Given the description of an element on the screen output the (x, y) to click on. 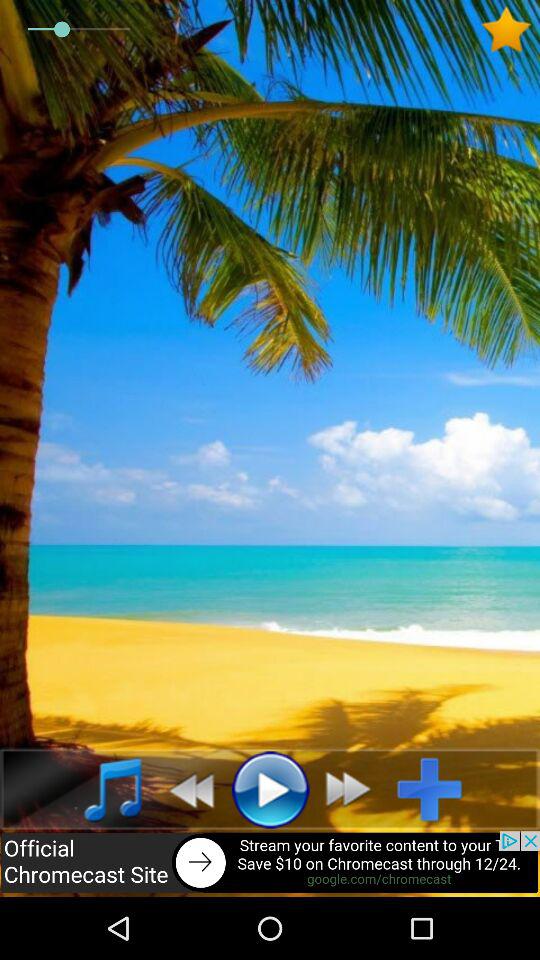
space where you access advertising (270, 864)
